Given the description of an element on the screen output the (x, y) to click on. 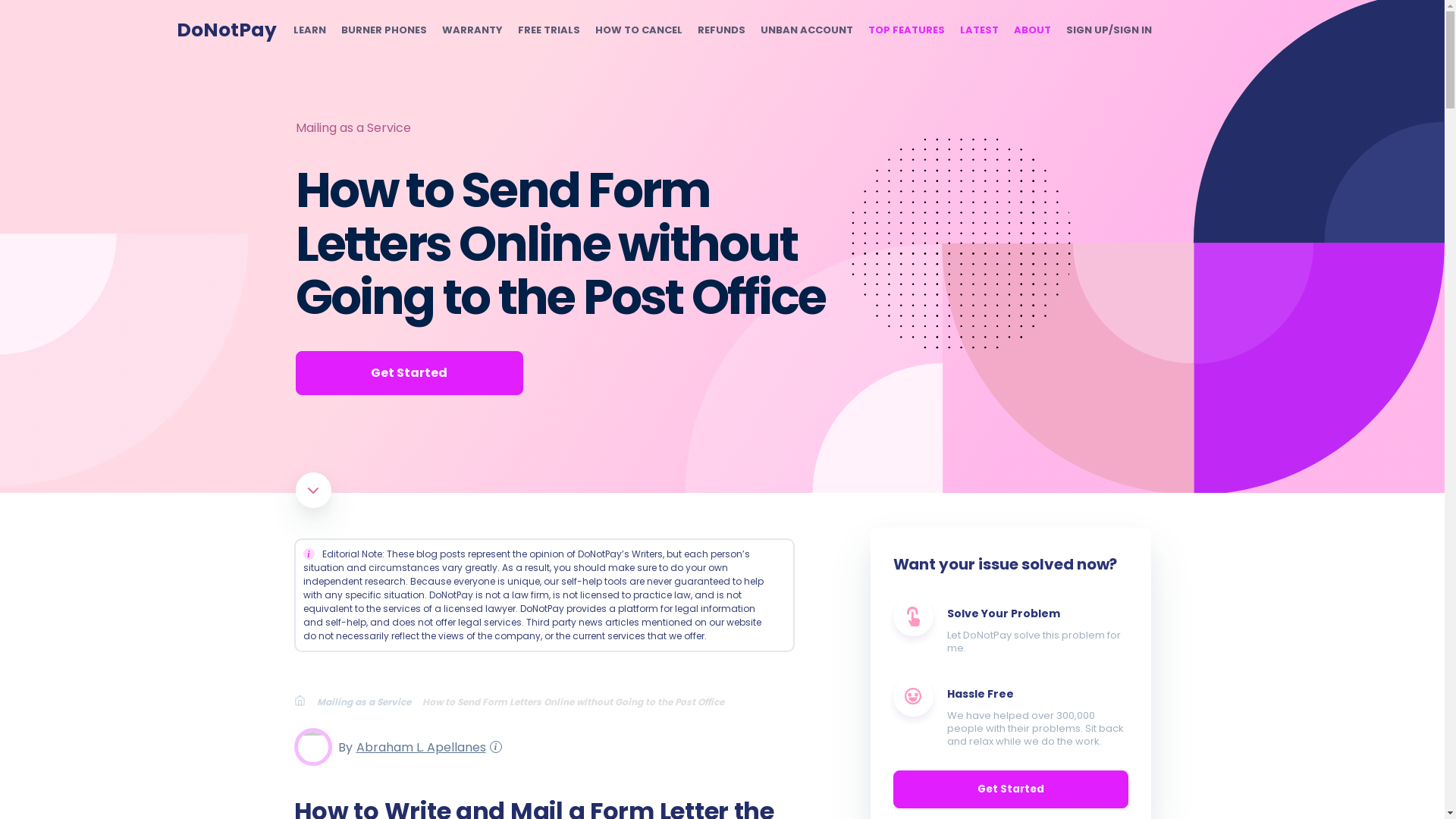
Abraham L. Apellanes (418, 746)
Get Started (408, 372)
LEARN (308, 29)
WARRANTY (471, 29)
FREE TRIALS (547, 29)
REFUNDS (721, 29)
BURNER PHONES (383, 29)
ABOUT (1031, 29)
HOW TO CANCEL (637, 29)
TOP FEATURES (905, 29)
